Given the description of an element on the screen output the (x, y) to click on. 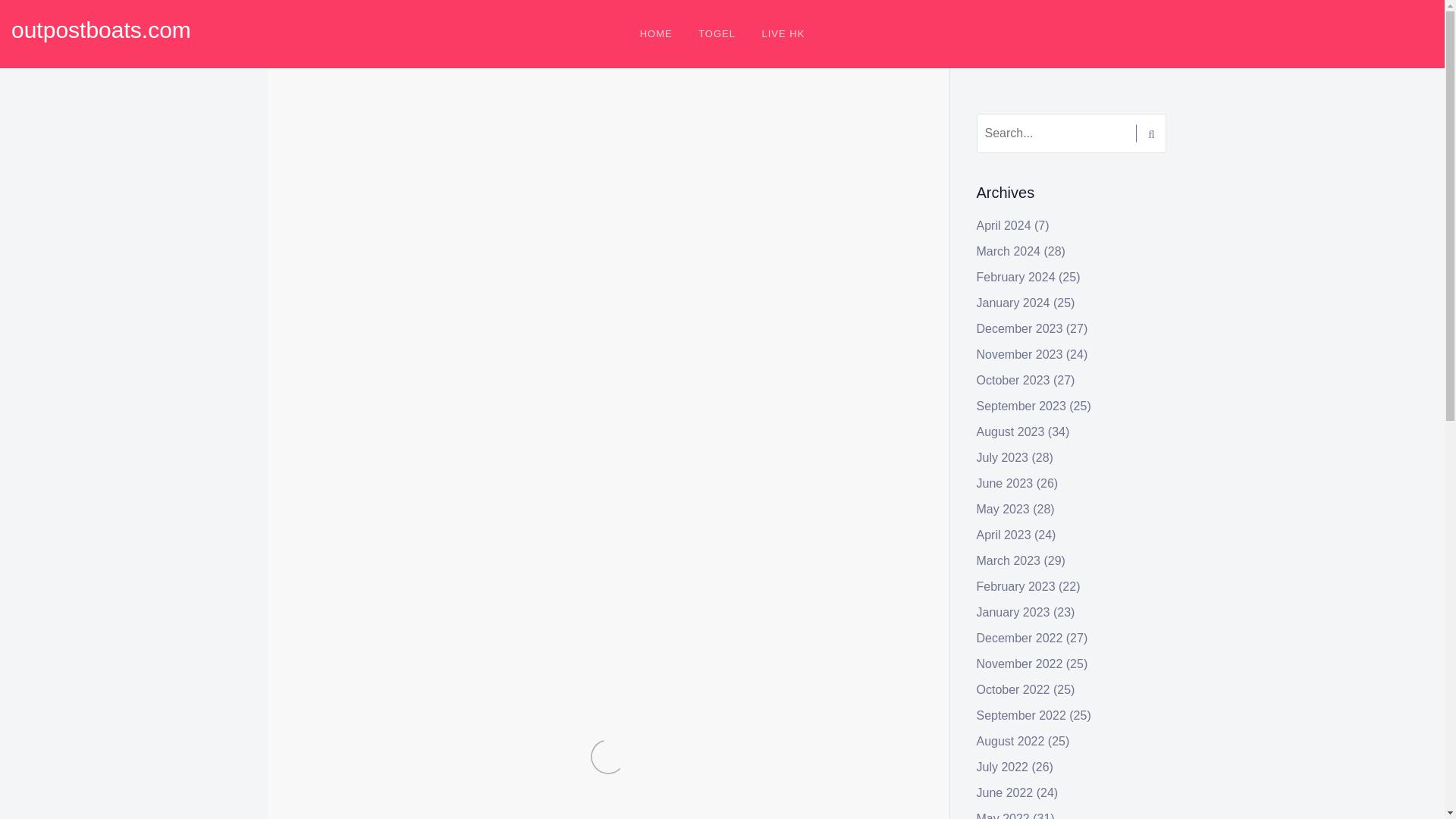
April 2023 (1003, 534)
March 2024 (1008, 250)
March 2023 (1008, 560)
January 2024 (1012, 302)
August 2023 (1010, 431)
Admin (396, 143)
LIVE HK (782, 33)
February 2023 (1015, 585)
April 2024 (1003, 225)
October 2022 (1012, 689)
